Given the description of an element on the screen output the (x, y) to click on. 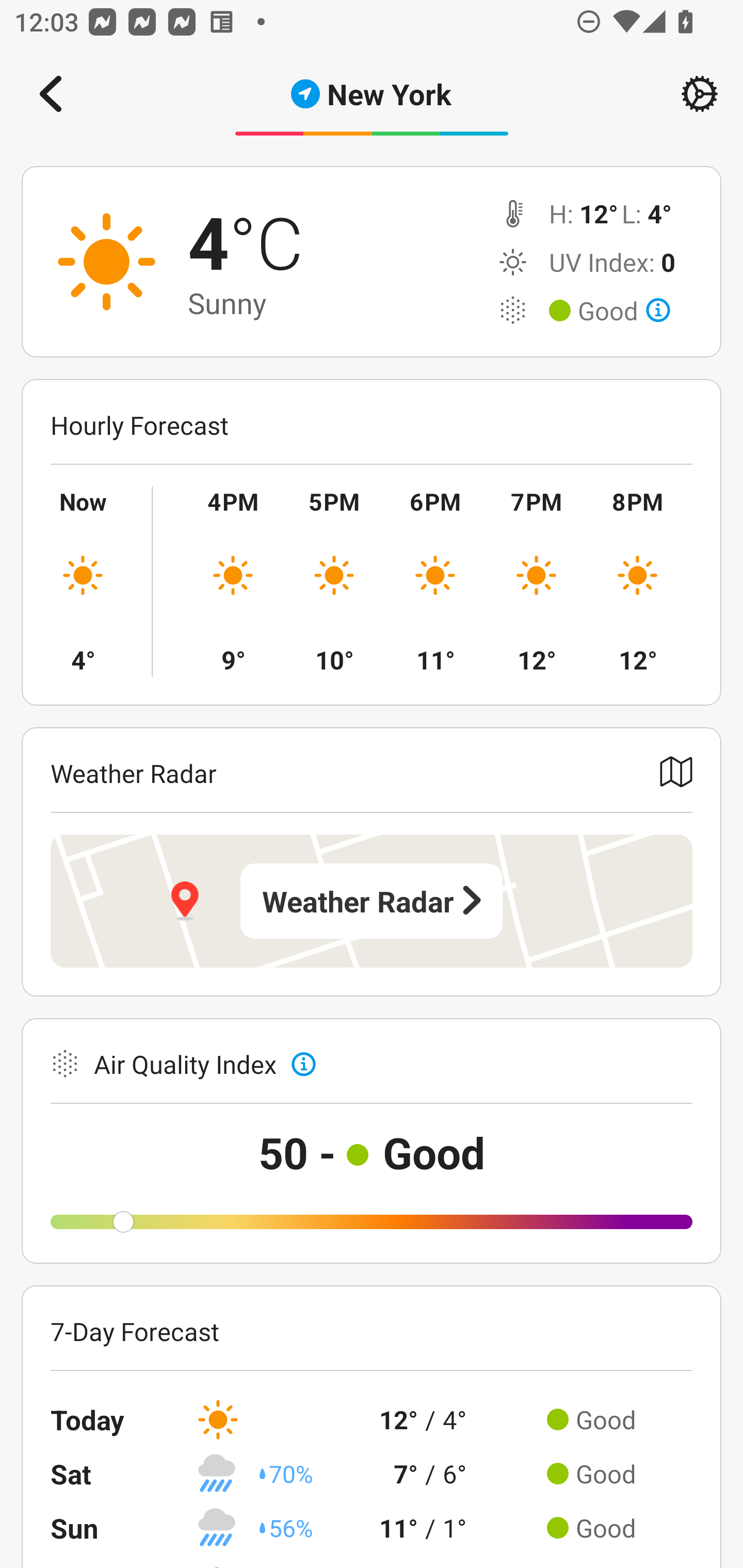
Navigate up (50, 93)
Setting (699, 93)
Good (624, 310)
Weather Radar (371, 900)
